Given the description of an element on the screen output the (x, y) to click on. 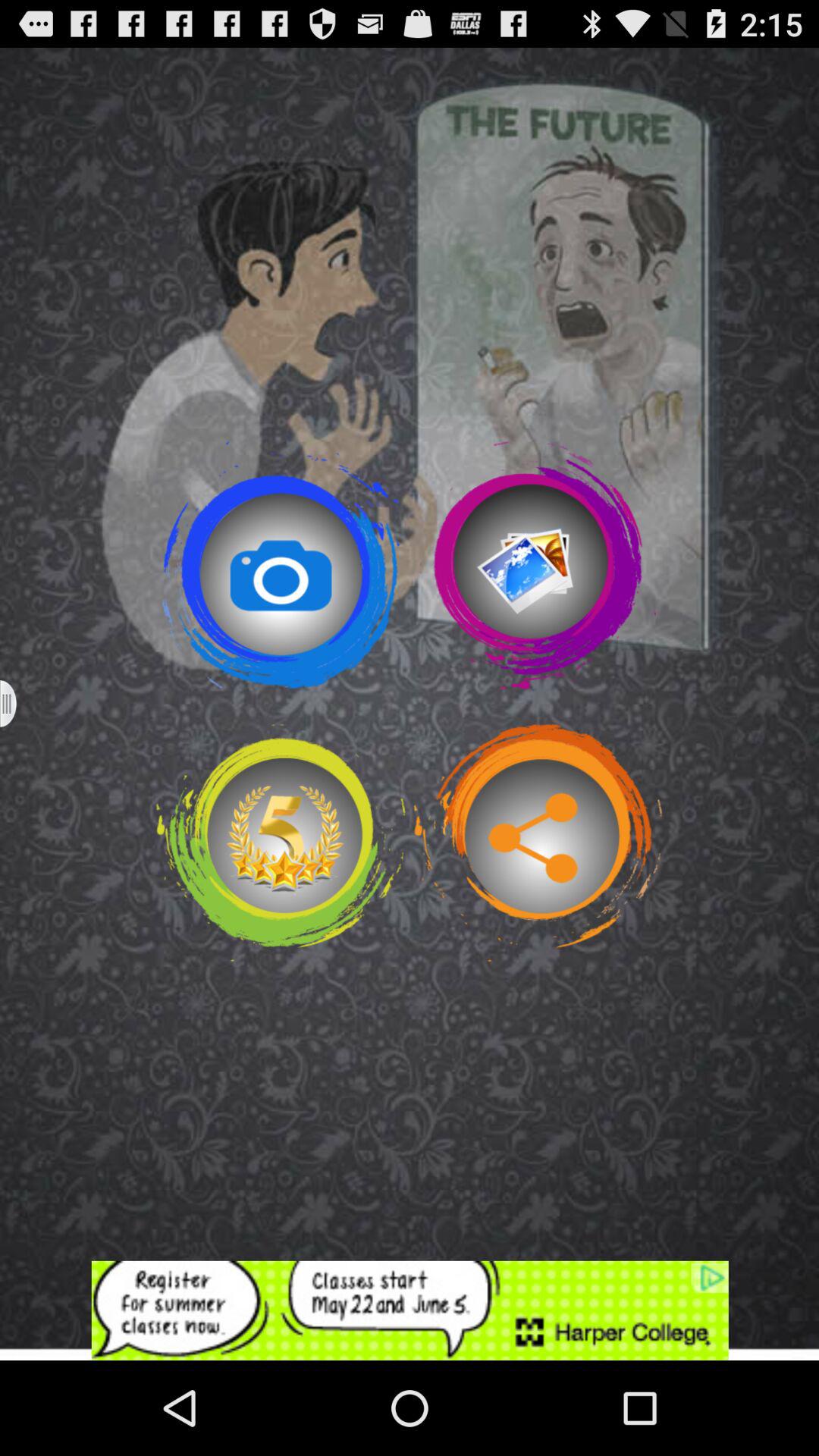
open another window (18, 703)
